Given the description of an element on the screen output the (x, y) to click on. 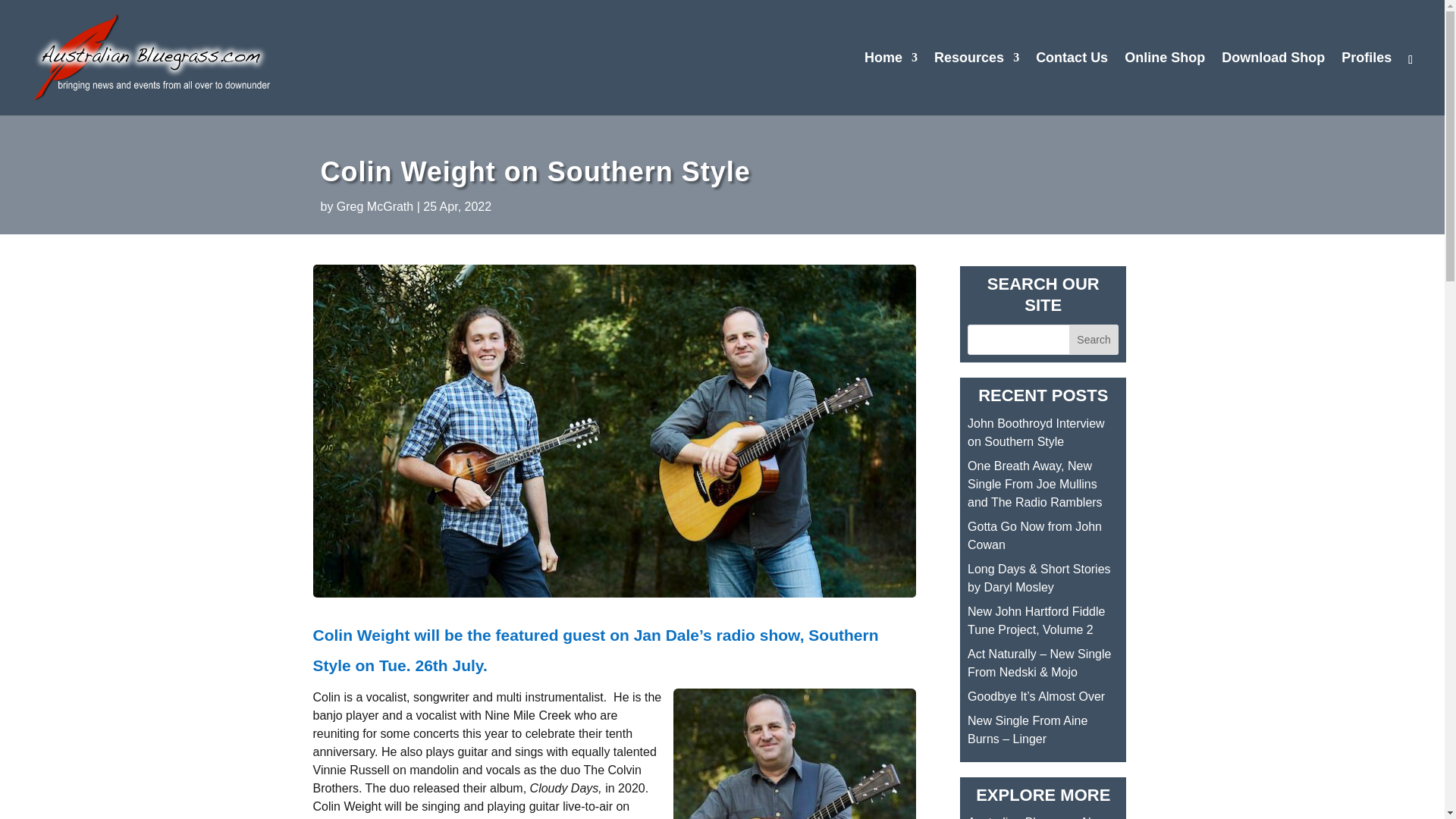
Search (1093, 339)
Resources (976, 83)
Greg McGrath (374, 205)
Online Shop (1164, 83)
Contact Us (1071, 83)
Search (1093, 339)
Download Shop (1272, 83)
Posts by Greg McGrath (374, 205)
